Given the description of an element on the screen output the (x, y) to click on. 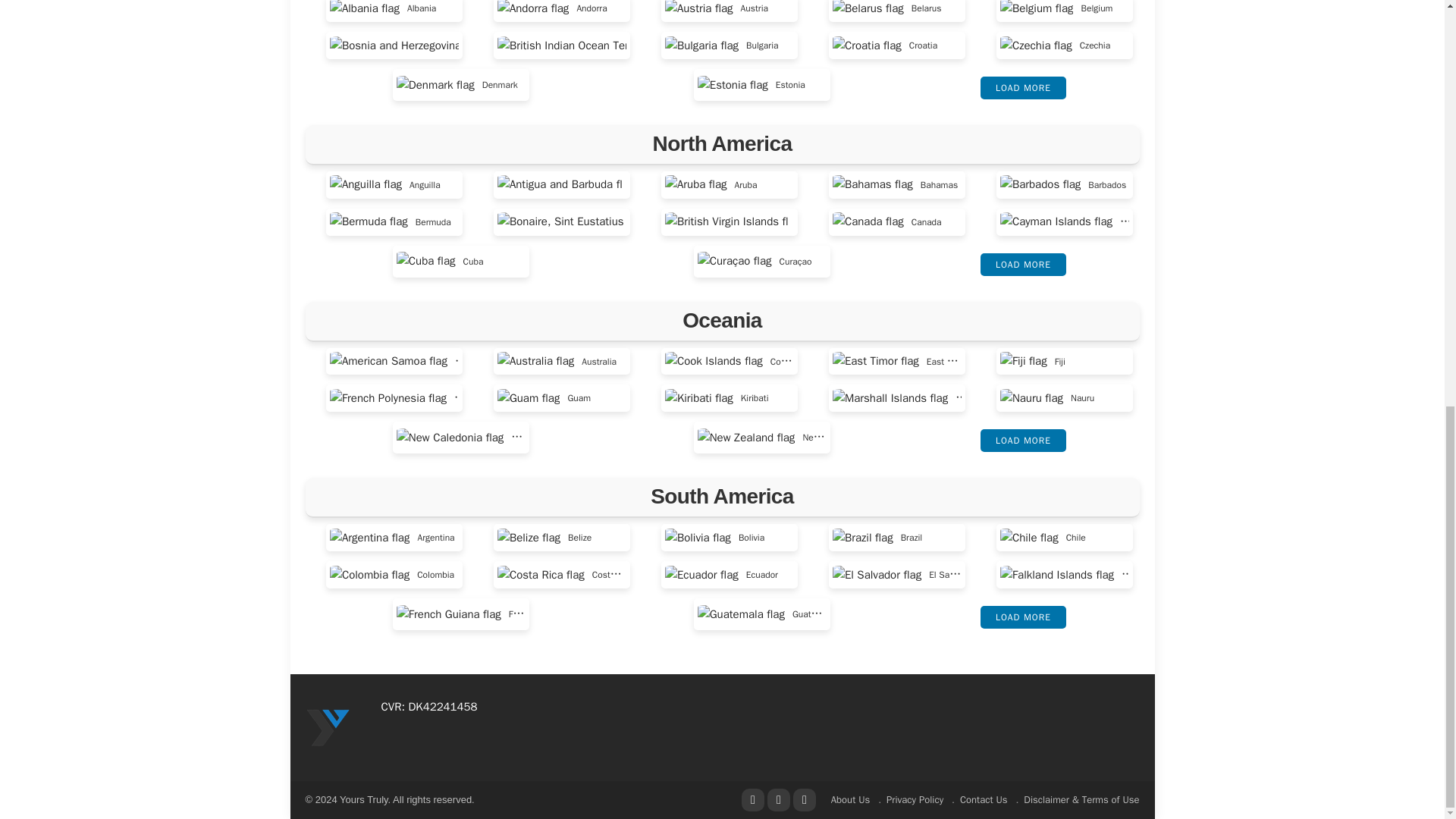
Yours Truly (327, 726)
instagram (804, 799)
facebook (752, 799)
twitter (778, 799)
